Given the description of an element on the screen output the (x, y) to click on. 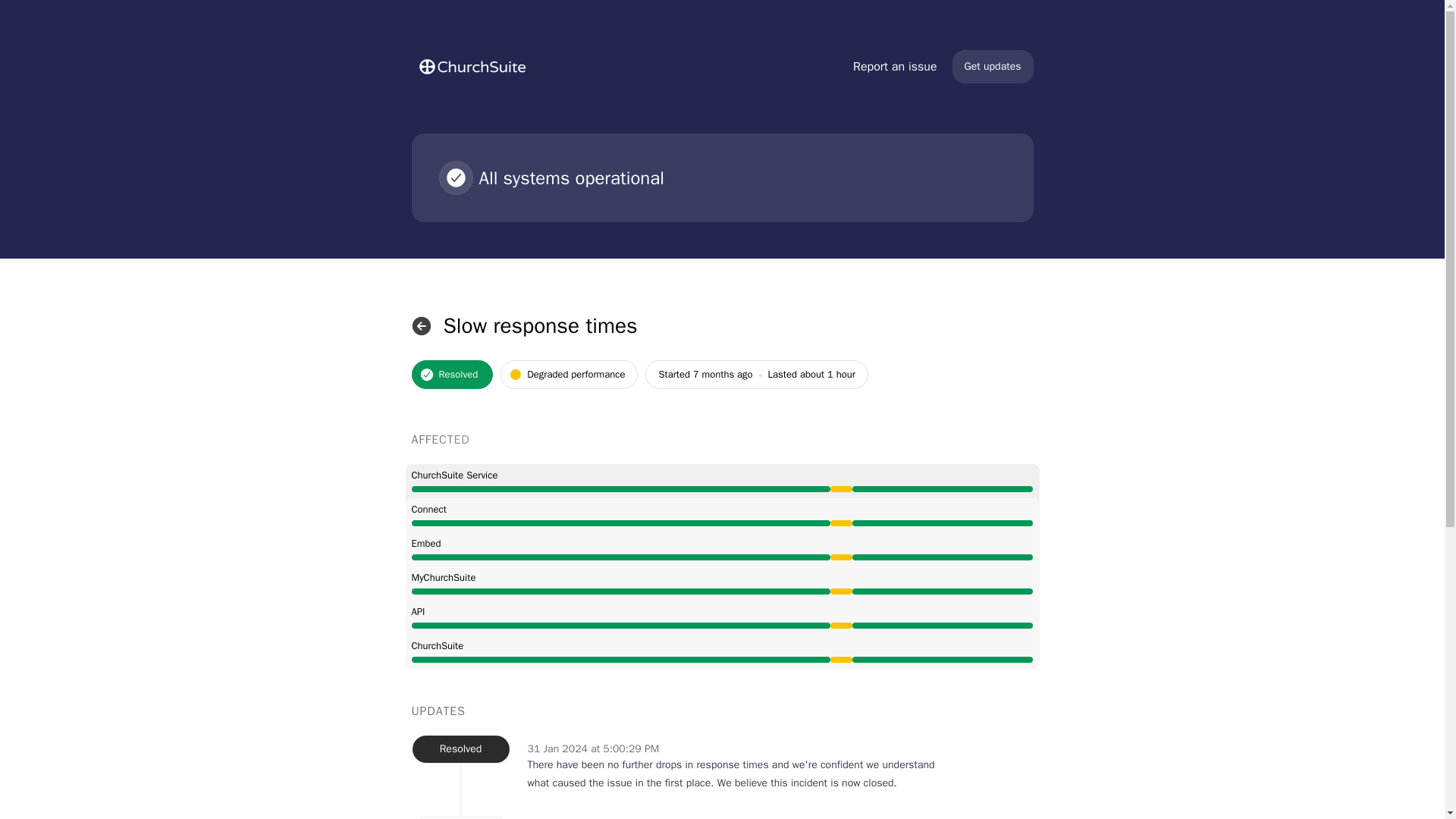
Show current status (420, 326)
Get updates (992, 66)
Report an issue (895, 66)
